Given the description of an element on the screen output the (x, y) to click on. 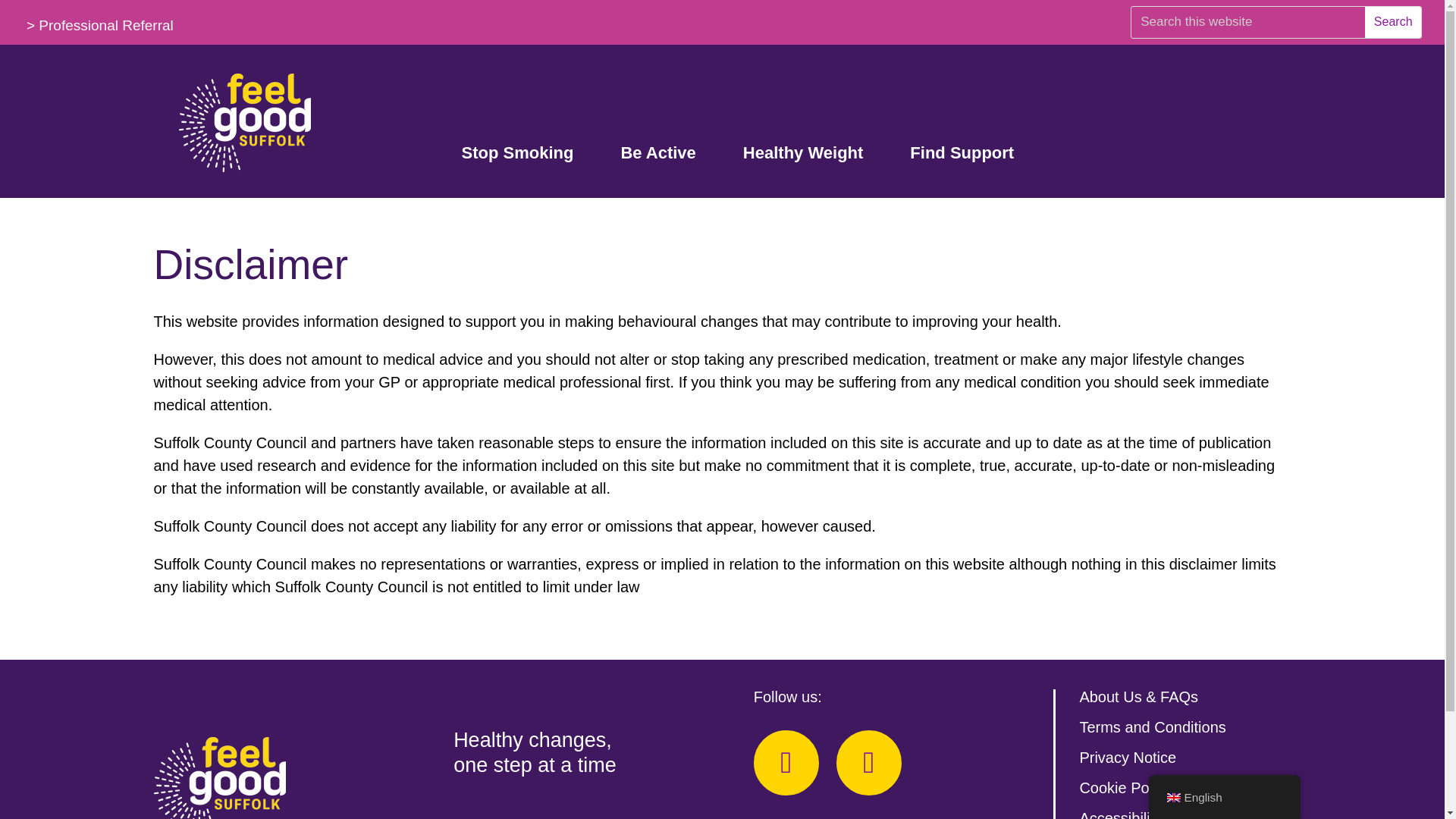
Be Active (657, 155)
Follow on Facebook (786, 762)
Terms and Conditions (1151, 727)
Cookie Policy (1124, 787)
Facebook (786, 762)
Follow on Instagram (868, 762)
Search (1393, 21)
Stop Smoking (517, 155)
Privacy Notice (1127, 757)
Accessibility Statement (1156, 814)
Healthy Weight (802, 155)
Link opens a PDF in a new window (1156, 814)
Search (1393, 21)
Instagram (868, 762)
